Given the description of an element on the screen output the (x, y) to click on. 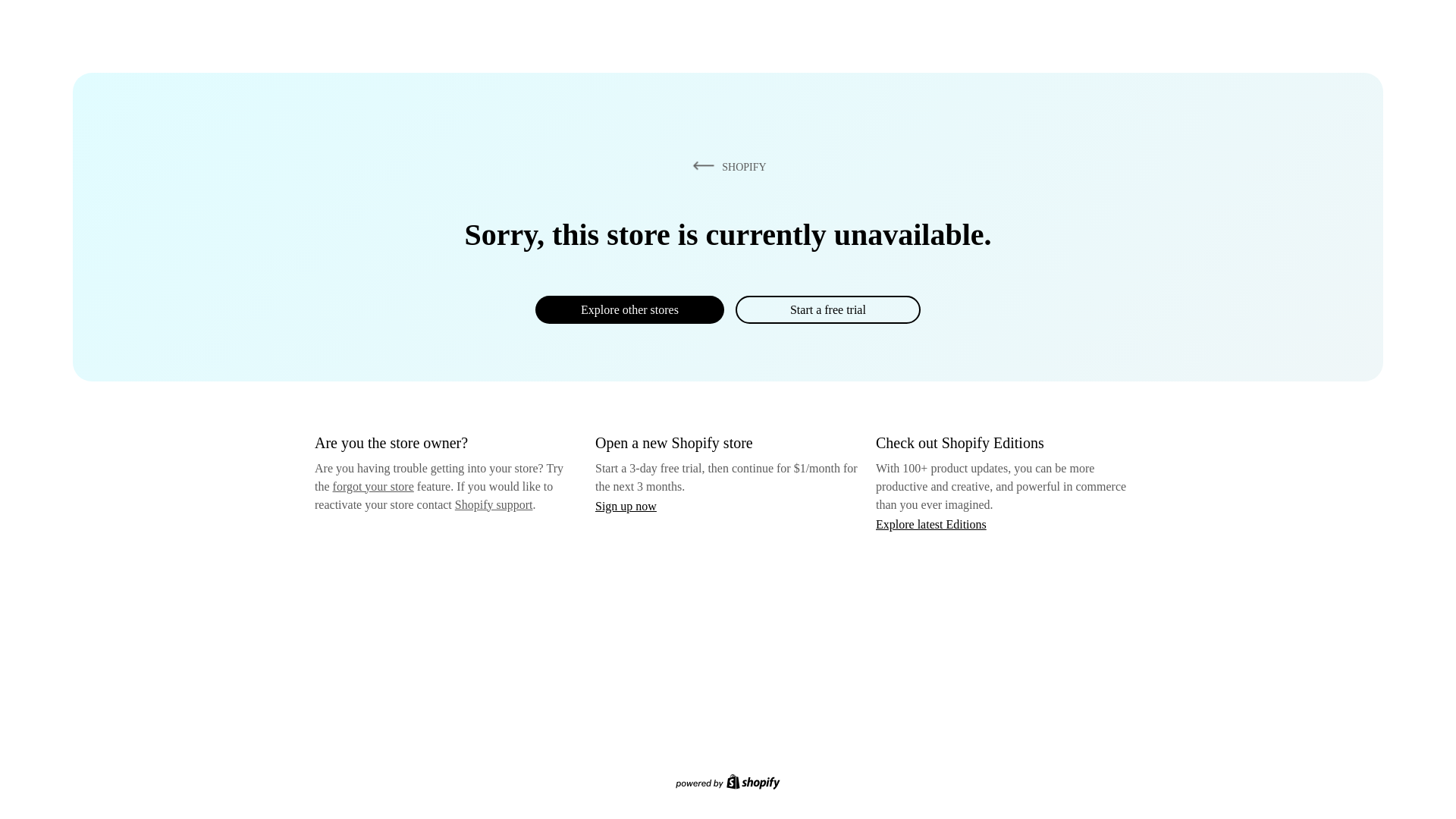
forgot your store (373, 486)
Explore latest Editions (931, 523)
Sign up now (625, 505)
SHOPIFY (726, 166)
Start a free trial (827, 309)
Explore other stores (629, 309)
Shopify support (493, 504)
